Given the description of an element on the screen output the (x, y) to click on. 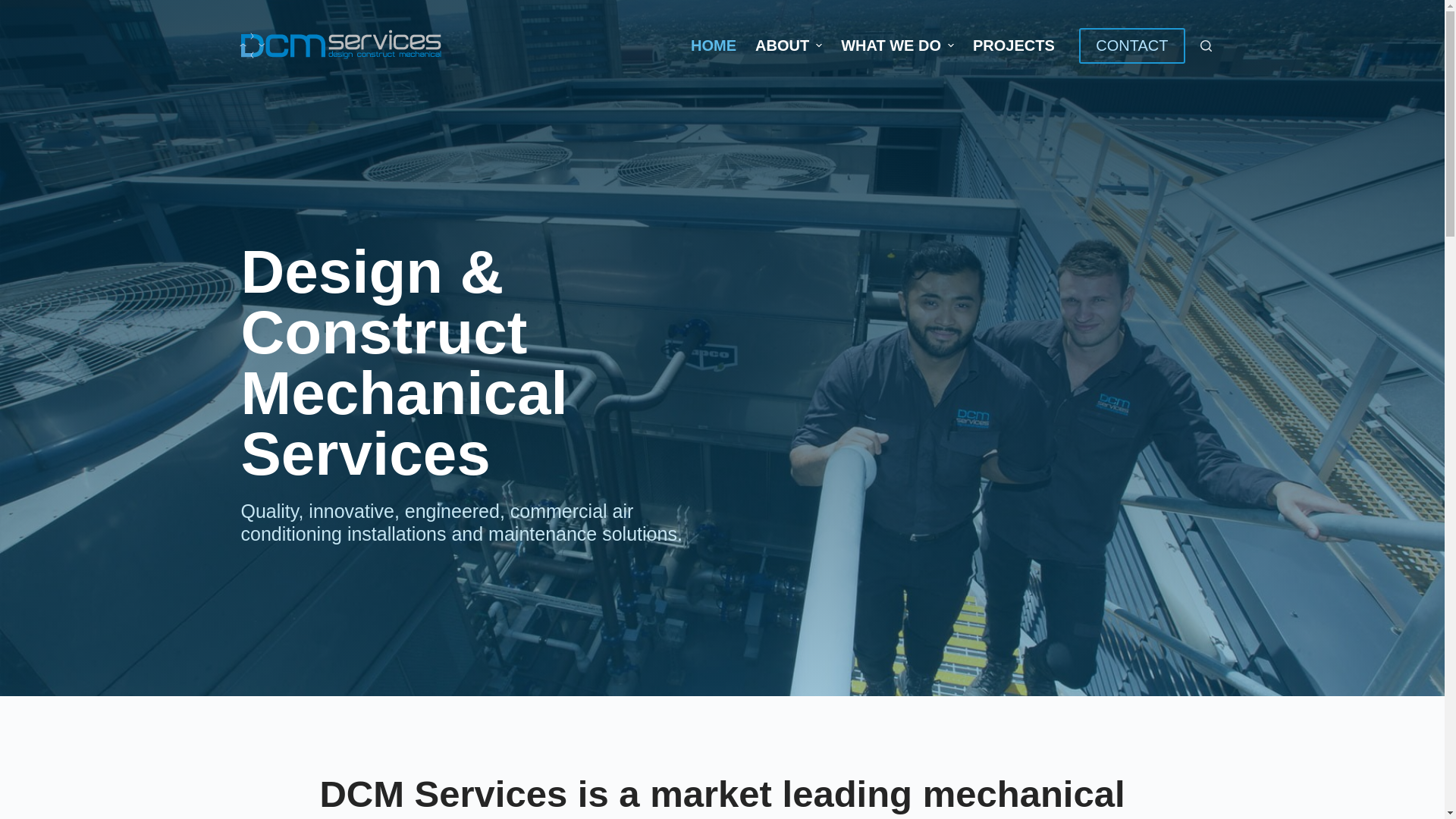
WHAT WE DO Element type: text (897, 45)
PROJECTS Element type: text (1013, 45)
ABOUT Element type: text (788, 45)
CONTACT Element type: text (1131, 44)
Skip to content Element type: text (15, 7)
HOME Element type: text (713, 45)
